Given the description of an element on the screen output the (x, y) to click on. 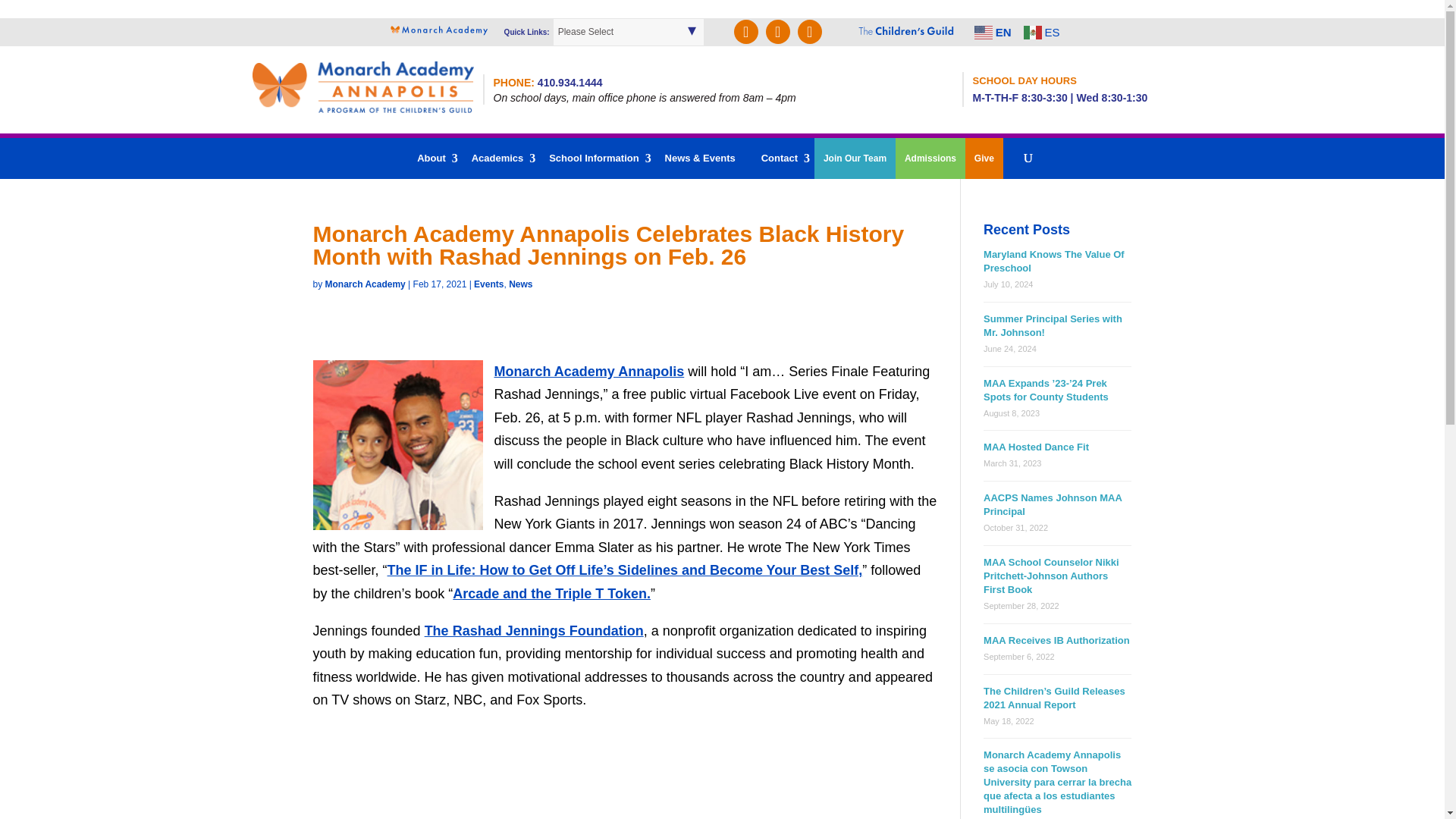
ES (1043, 30)
About (430, 158)
Contact (779, 158)
PHONE: 410.934.1444 (547, 82)
English (994, 30)
EN (994, 30)
Posts by Monarch Academy (365, 284)
Spanish (1043, 30)
Academics (497, 158)
School Information (593, 158)
